Given the description of an element on the screen output the (x, y) to click on. 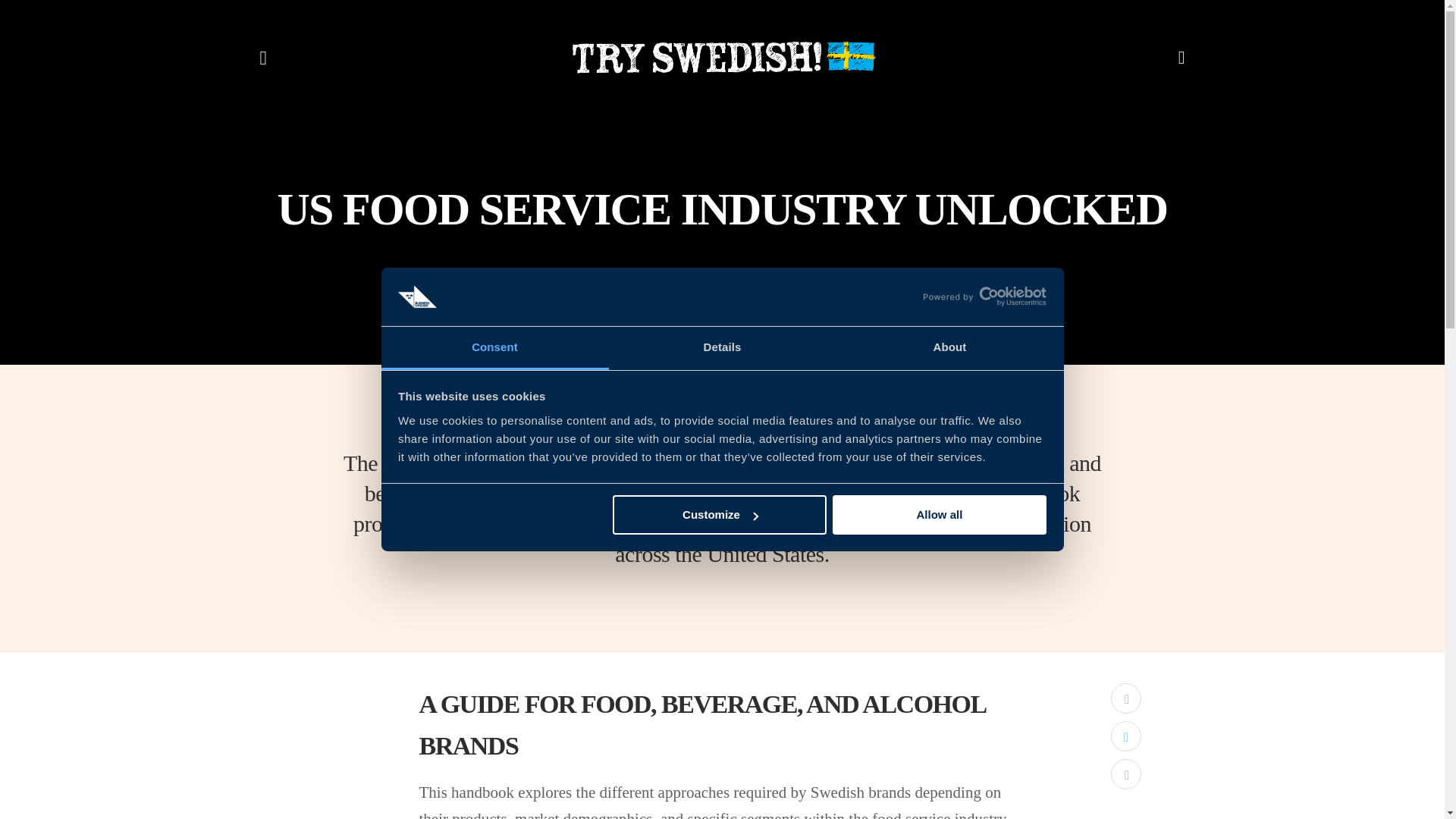
Consent (494, 348)
About (948, 348)
Details (721, 348)
